Given the description of an element on the screen output the (x, y) to click on. 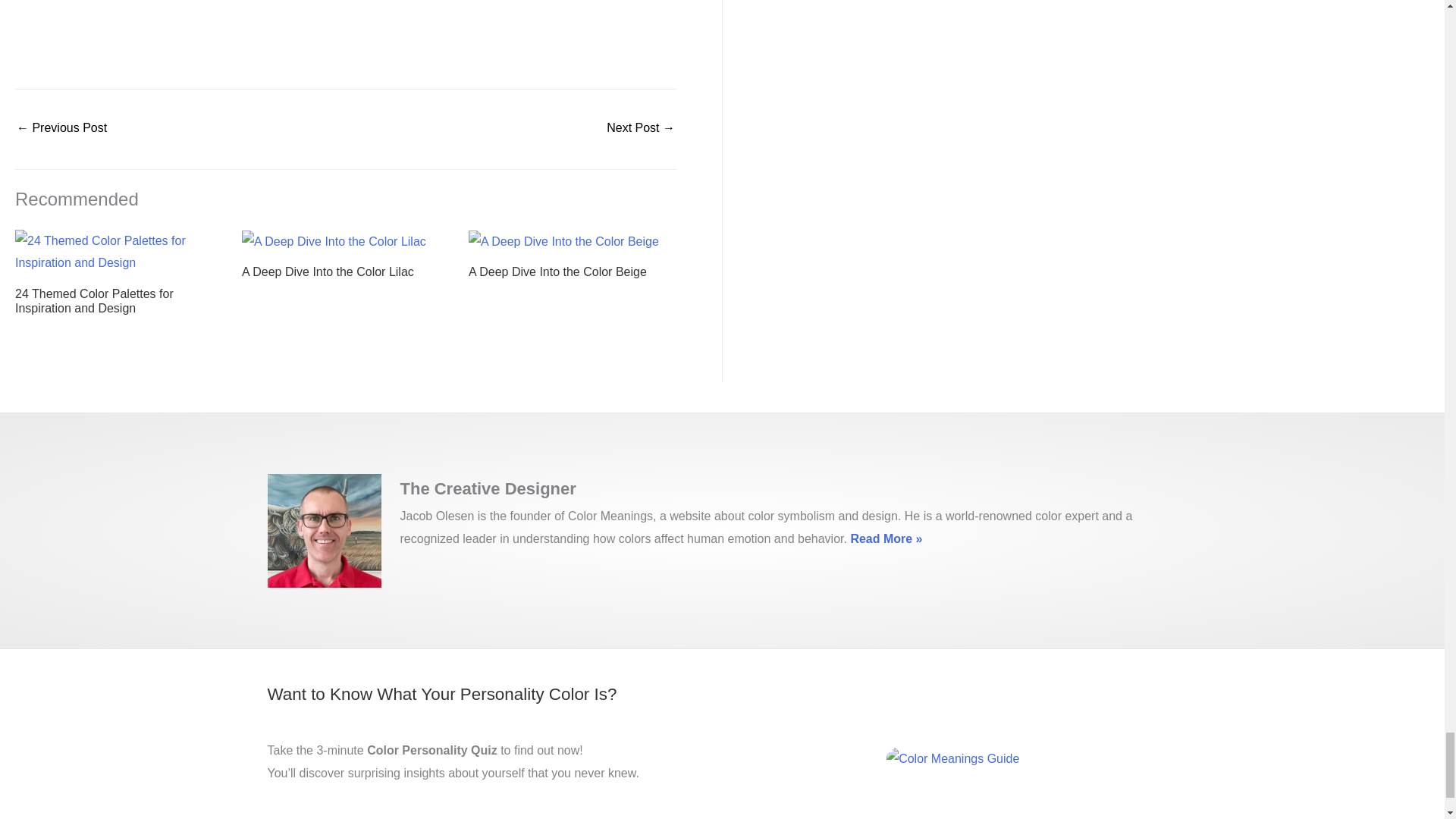
Star Colors: Why They Differ and What We Can Learn From Them (641, 129)
